Given the description of an element on the screen output the (x, y) to click on. 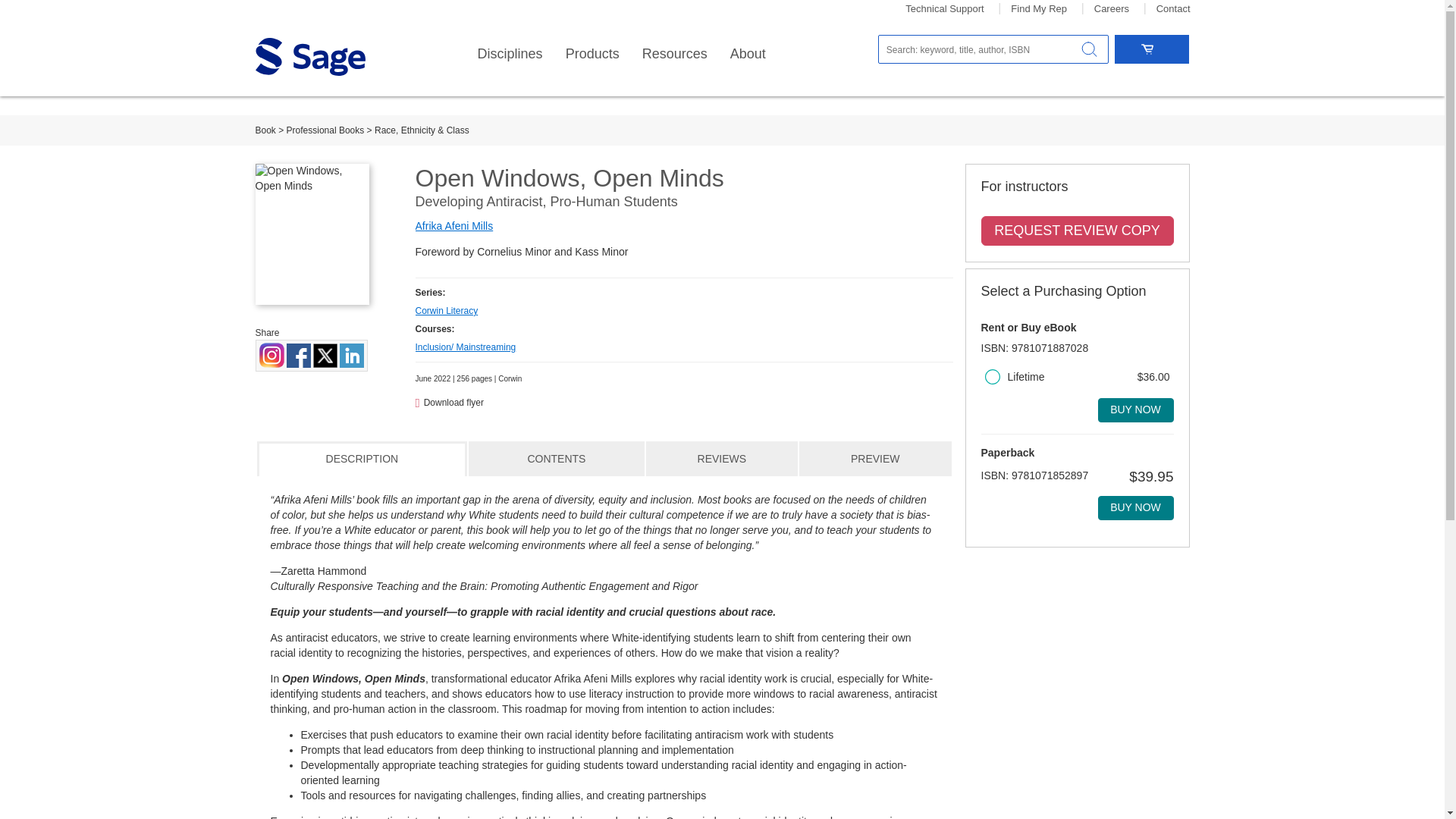
Contact (1173, 8)
Careers (1111, 8)
Find My Rep (1038, 8)
Technical Support (944, 8)
29 (991, 376)
Request review copy (1077, 231)
Sage logo: link back to homepage (309, 56)
Buy now (1135, 508)
Buy now (1135, 410)
Disciplines (509, 53)
Search (1089, 48)
